Given the description of an element on the screen output the (x, y) to click on. 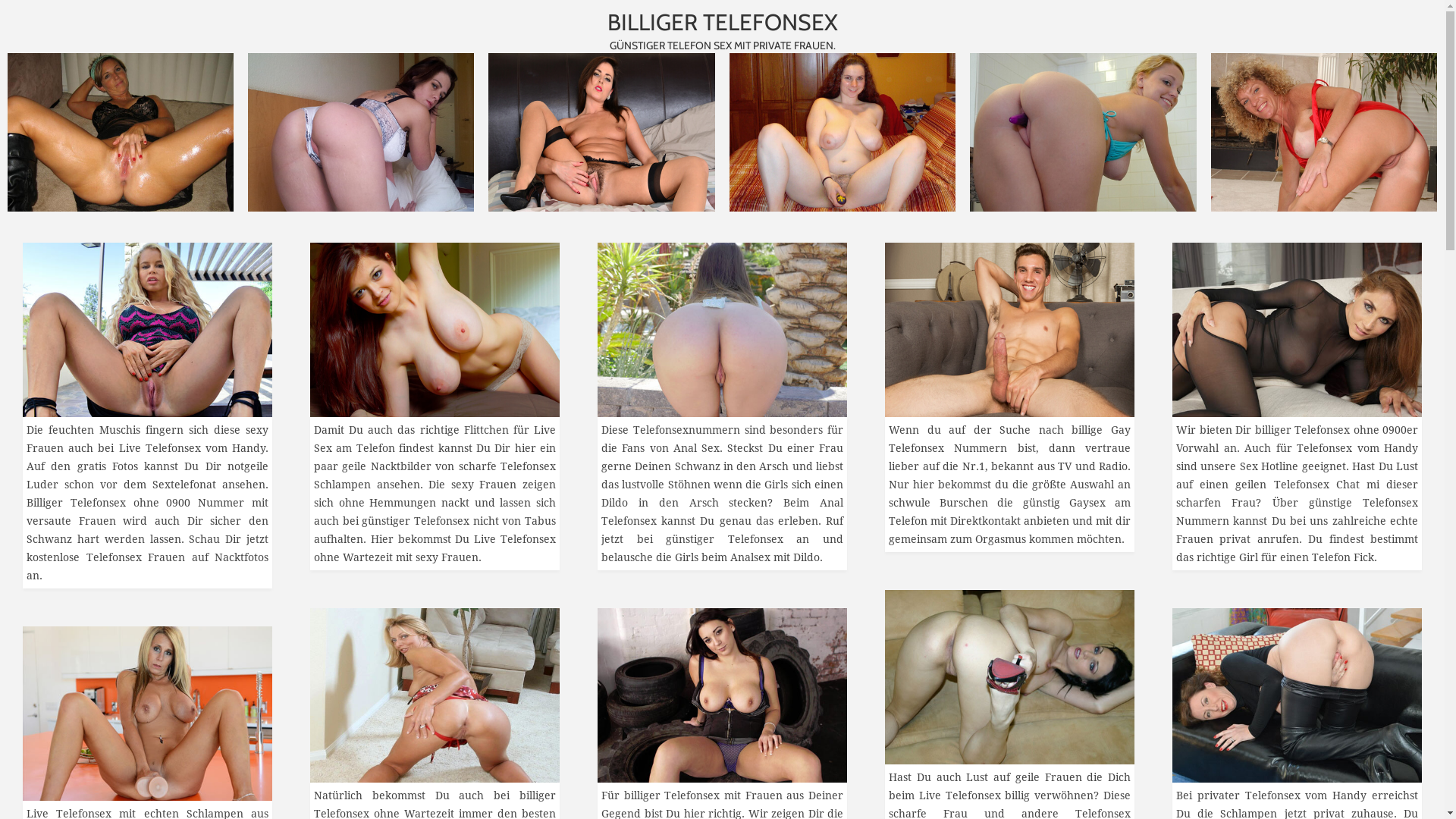
https://www.telefonsex-ohne-0900.net/ Element type: hover (1296, 329)
https://telefonsexschlampen.gratis-sexvideos.net/ Element type: hover (147, 713)
https://anal-pornobilder.unzensierte-pornobilder.com/ Element type: hover (722, 329)
https://geile-nacktbilder.sex-bilder.net/ Element type: hover (434, 329)
https://www.telefonsex-koeln.net/ Element type: hover (1009, 676)
https://billiger-telefonsex.fotzensex.net/ Element type: hover (722, 695)
https://privater-telefon-sex.fotzen-porno.net/ Element type: hover (1296, 695)
https://kostenlose-muschibilder.gratis-sex.net/ Element type: hover (147, 329)
https://www.gay-telefonsex.org/ Element type: hover (1009, 329)
https://www.cuckold-telefonsex.net/ Element type: hover (434, 695)
